Given the description of an element on the screen output the (x, y) to click on. 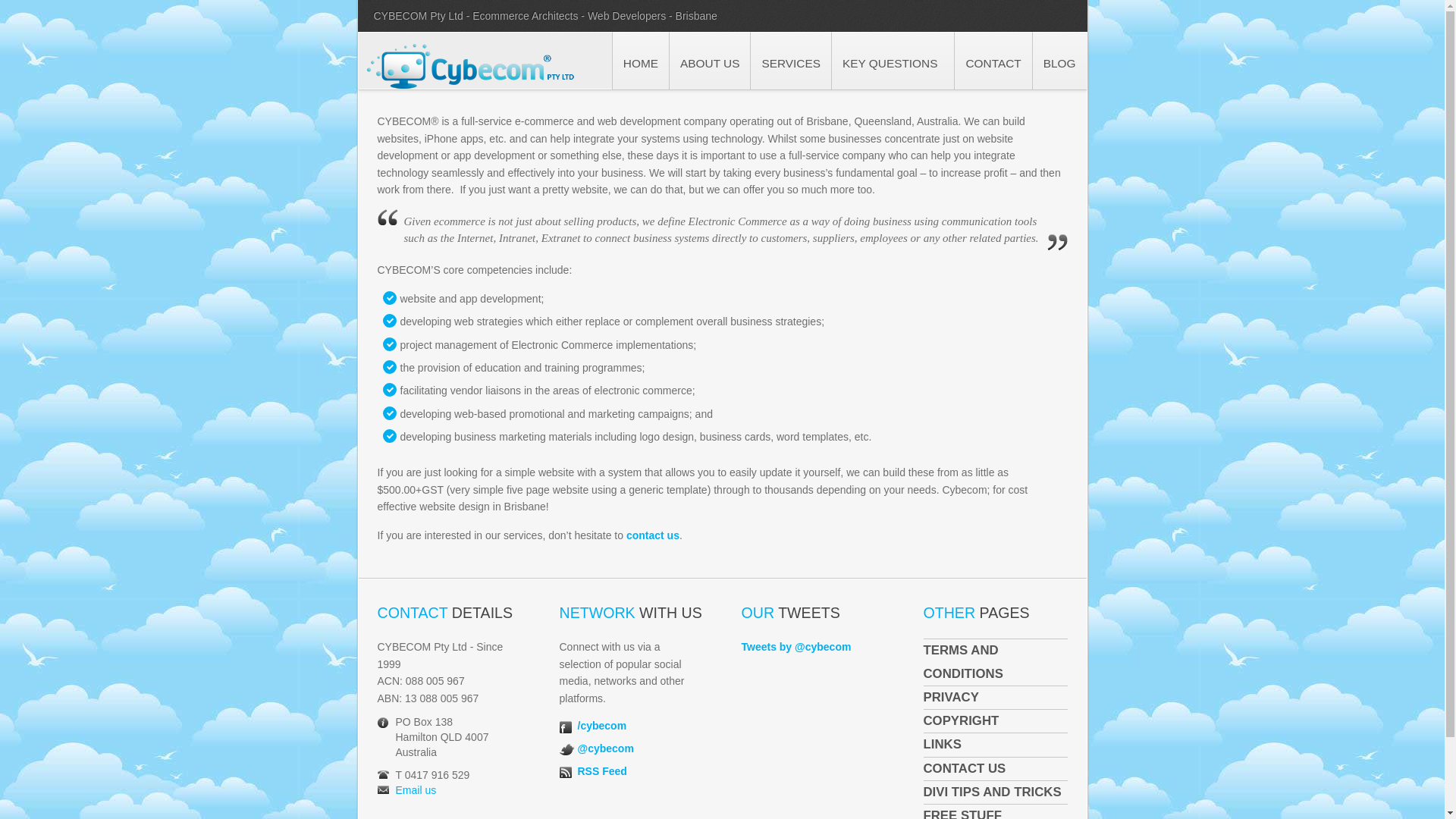
TERMS AND CONDITIONS Element type: text (995, 661)
SERVICES Element type: text (790, 60)
HOME Element type: text (639, 60)
ABOUT US Element type: text (708, 60)
@cybecom Element type: text (605, 748)
CONTACT Element type: text (992, 60)
DIVI TIPS AND TRICKS Element type: text (995, 792)
Email us Element type: text (415, 790)
contact us Element type: text (652, 535)
LINKS Element type: text (995, 744)
Tweets by @cybecom Element type: text (796, 646)
PRIVACY Element type: text (995, 697)
COPYRIGHT Element type: text (995, 720)
RSS Feed Element type: text (602, 771)
/cybecom Element type: text (602, 725)
CONTACT US Element type: text (995, 768)
KEY QUESTIONS Element type: text (892, 60)
BLOG Element type: text (1059, 60)
